Given the description of an element on the screen output the (x, y) to click on. 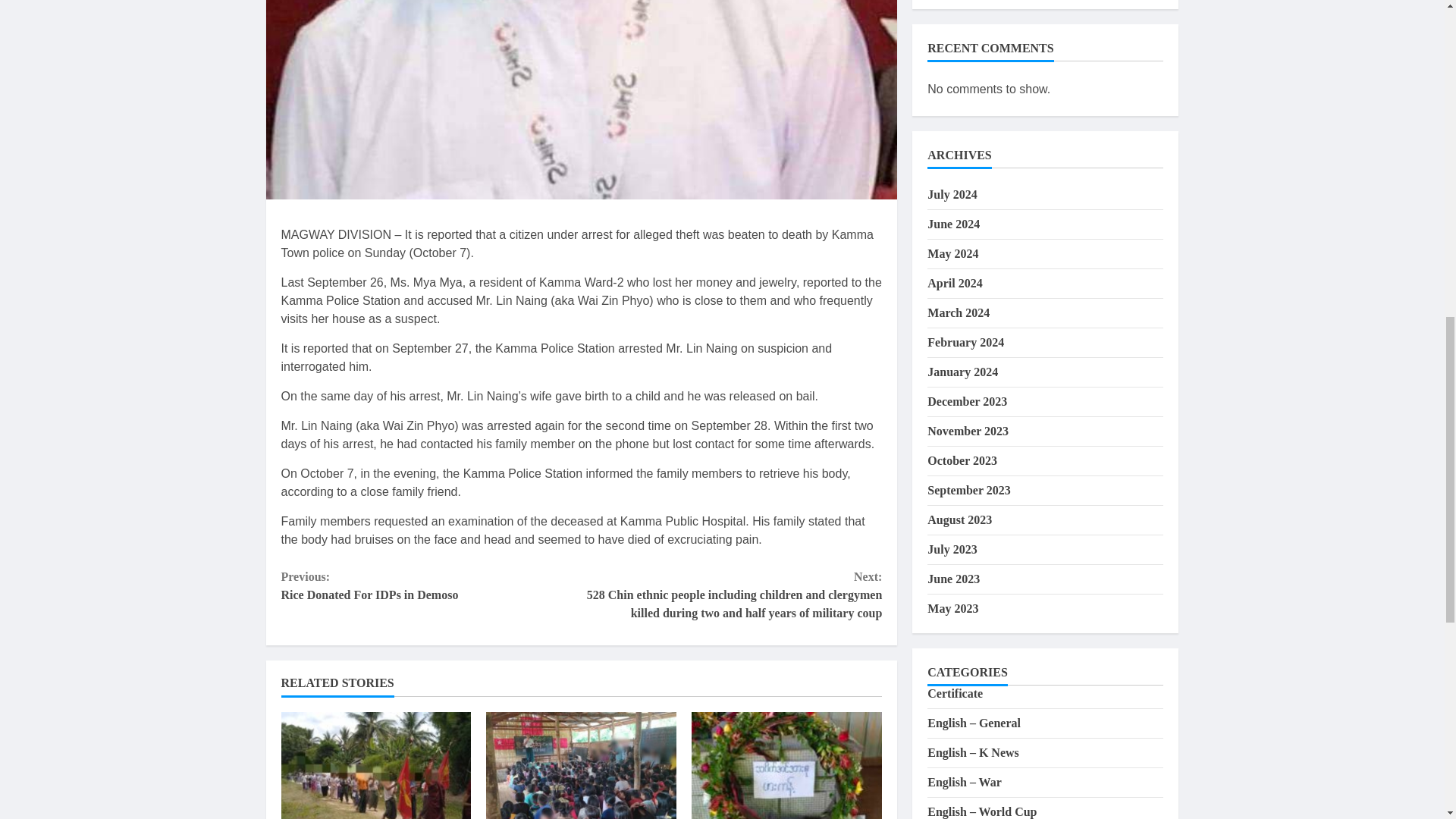
July 2024 (951, 20)
February 2024 (965, 168)
January 2024 (962, 197)
May 2024 (952, 79)
Commemoration of Martyrs' Day in Hpakant region (786, 765)
Martyrs' Day ceremony held in Budalin Township (375, 765)
June 2024 (953, 50)
March 2024 (958, 138)
April 2024 (430, 586)
